Given the description of an element on the screen output the (x, y) to click on. 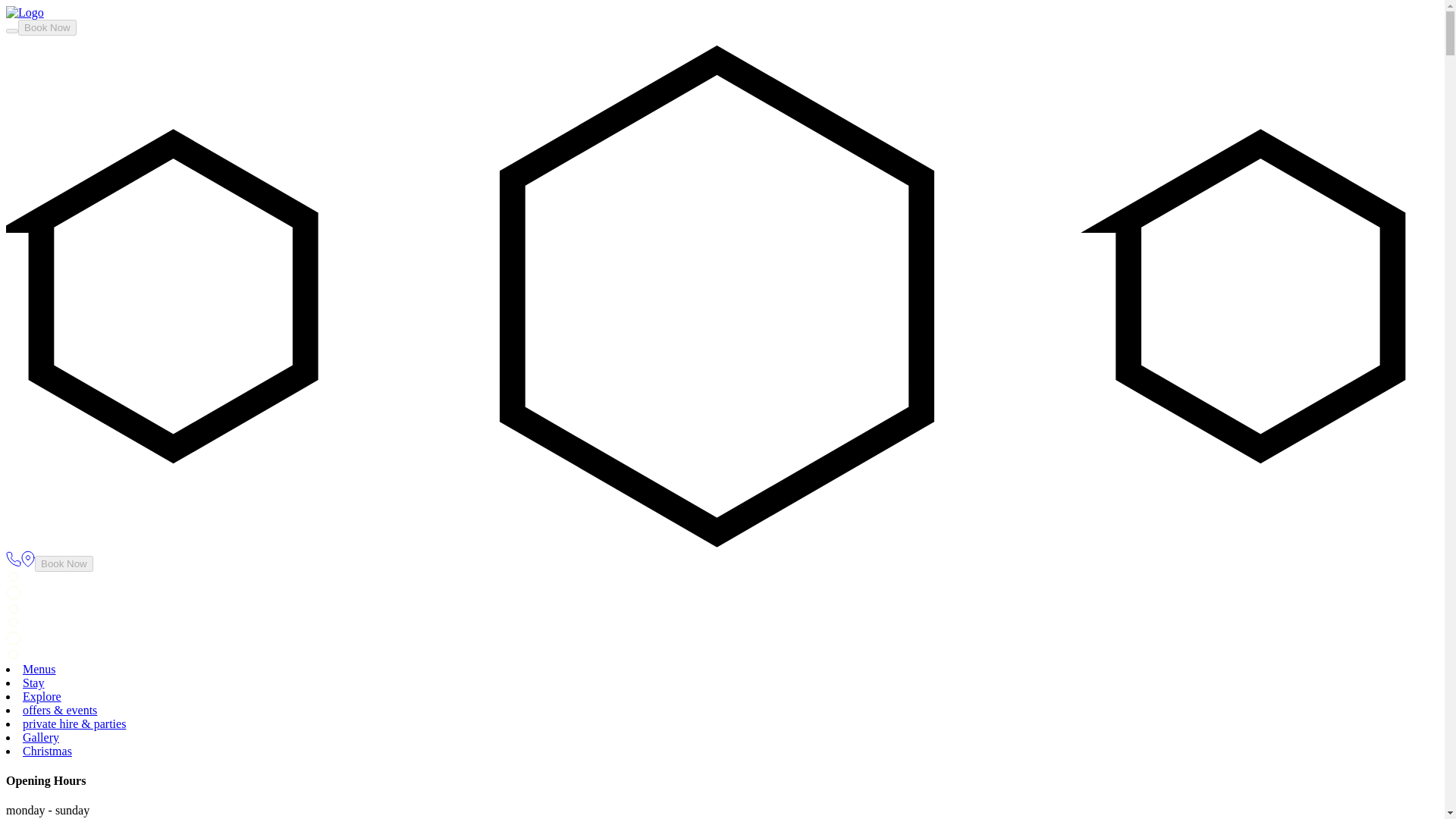
Explore (42, 696)
Book Now (47, 27)
Stay (33, 682)
Christmas (47, 750)
Menus (39, 668)
Book Now (63, 563)
Gallery (41, 737)
